Given the description of an element on the screen output the (x, y) to click on. 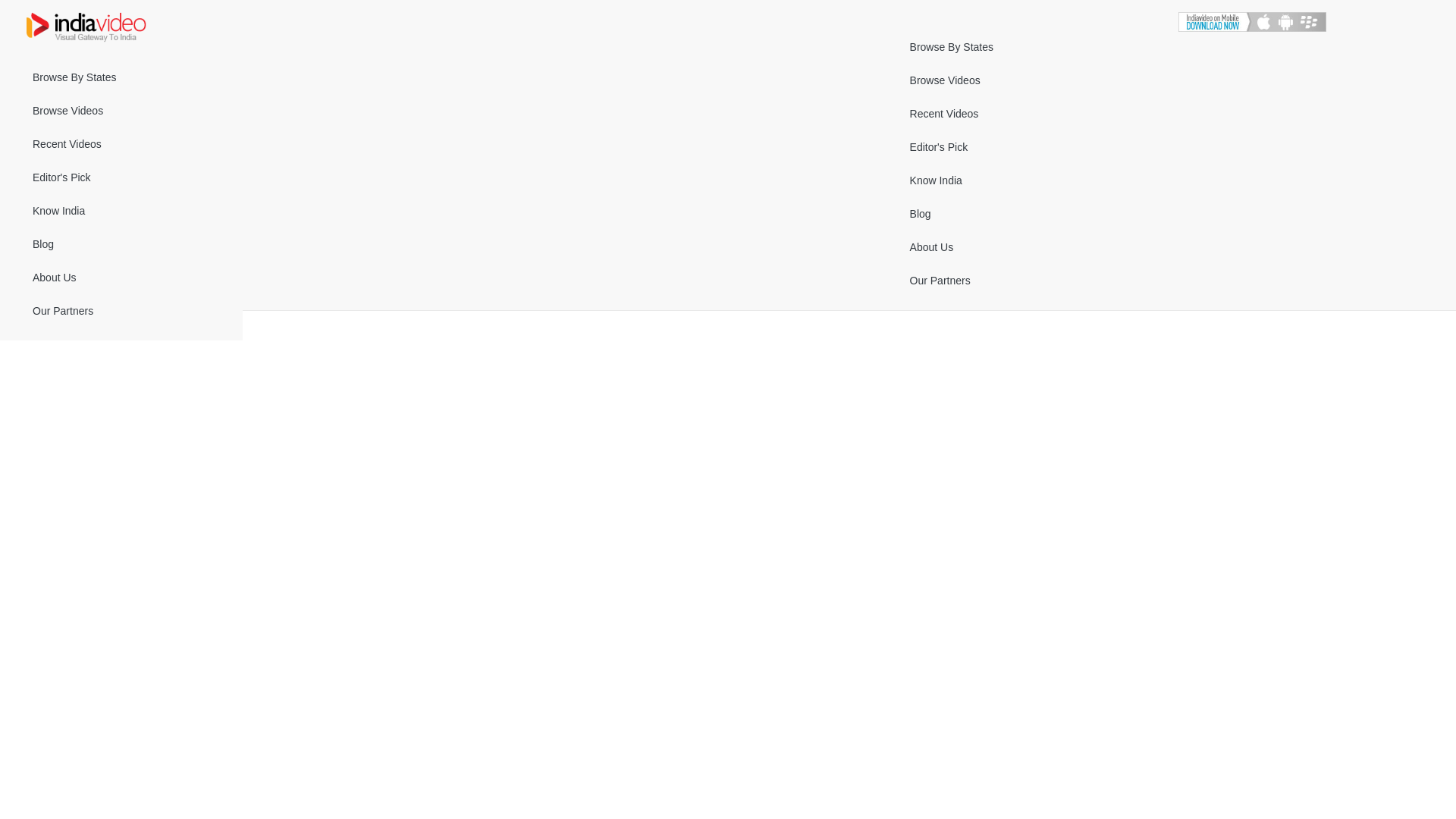
Browse By States (121, 77)
Recent Videos (121, 144)
Blog (121, 244)
Browse Videos (121, 110)
Know India (121, 211)
About Us (121, 277)
Editor's Pick (121, 177)
